Given the description of an element on the screen output the (x, y) to click on. 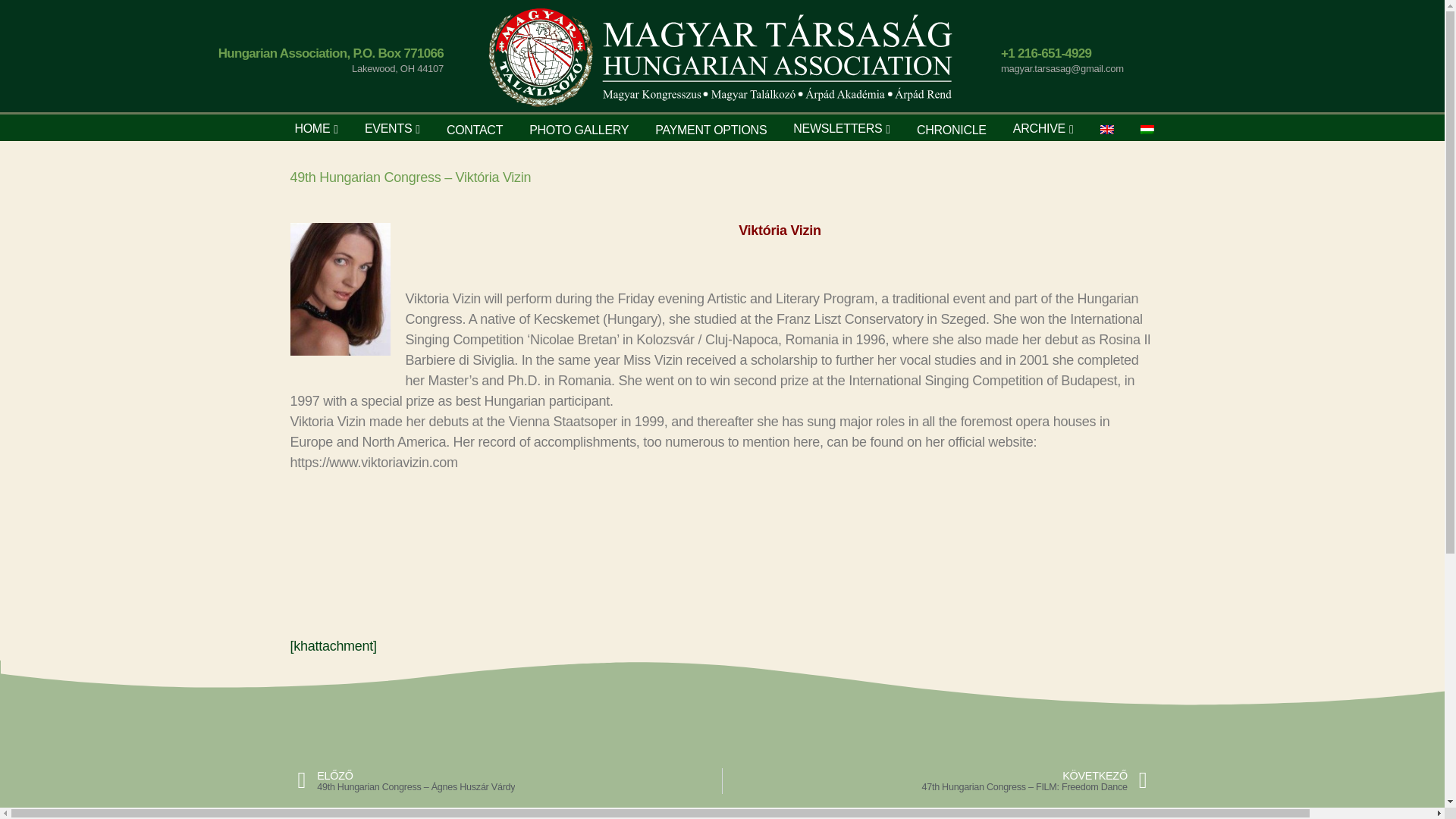
CONTACT (474, 129)
EVENTS (388, 128)
HOME (312, 128)
PAYMENT OPTIONS (711, 129)
PHOTO GALLERY (578, 129)
NEWSLETTERS (837, 128)
